Given the description of an element on the screen output the (x, y) to click on. 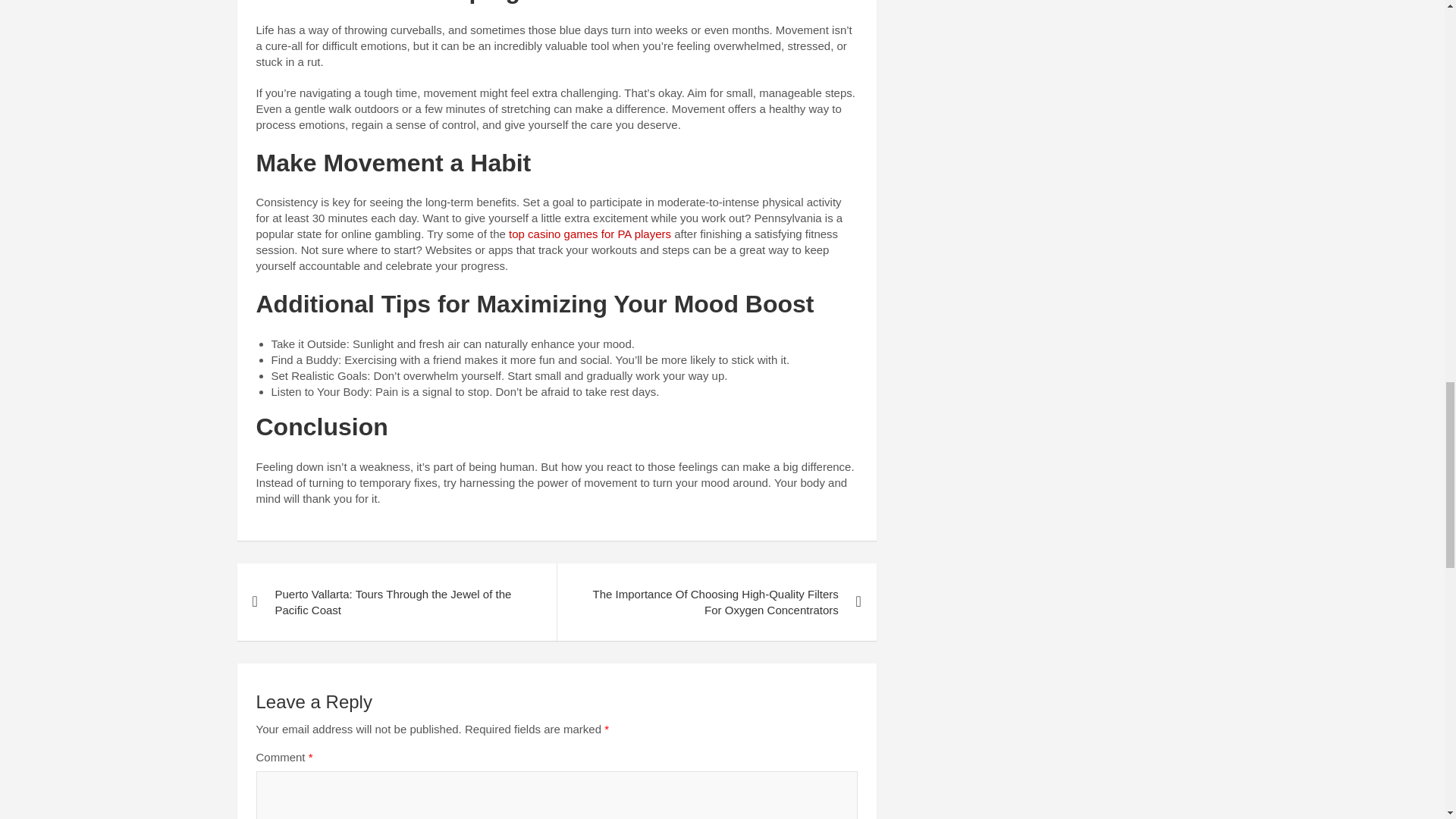
top casino games for PA players (589, 233)
